Given the description of an element on the screen output the (x, y) to click on. 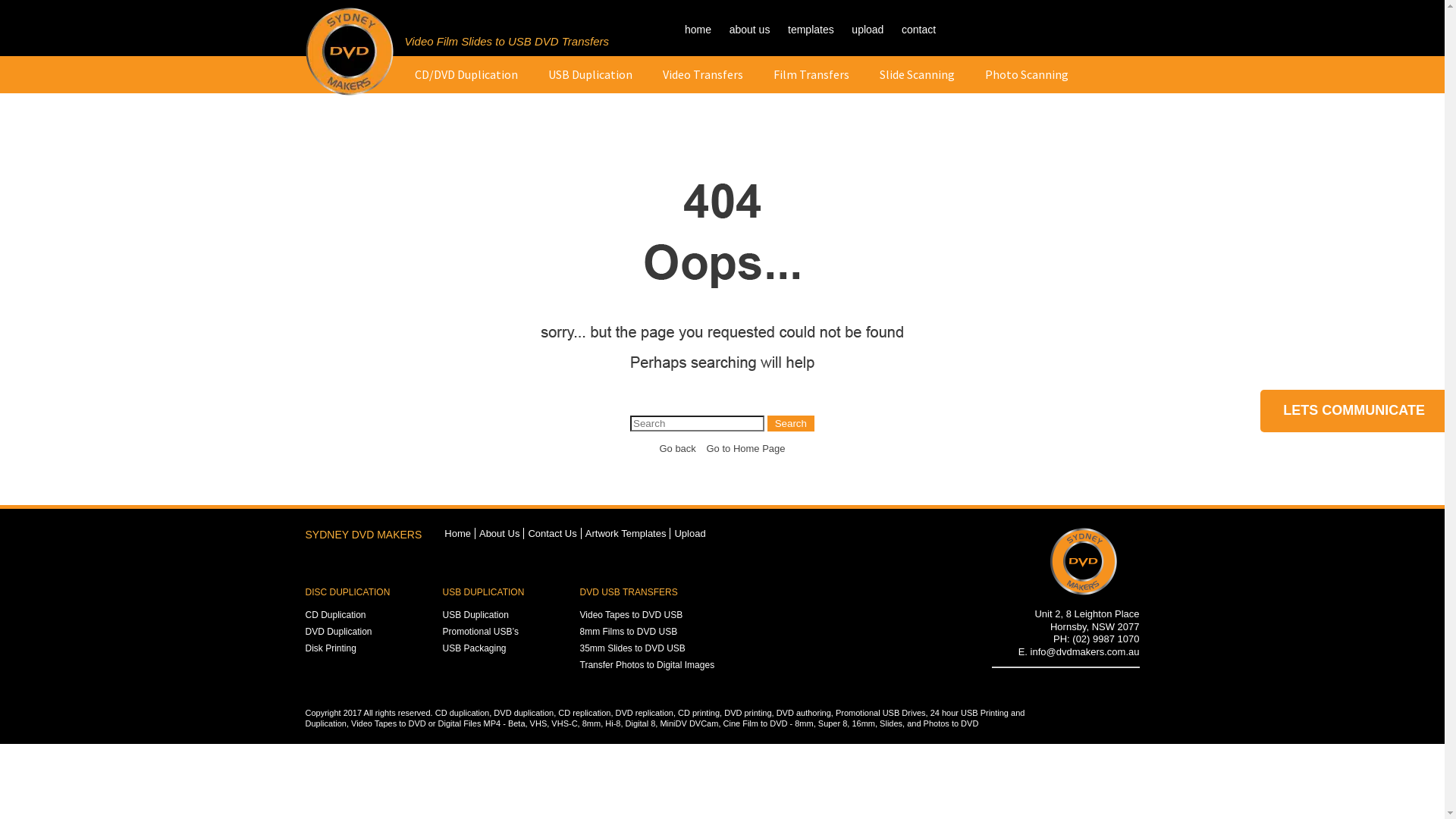
Search Element type: text (790, 423)
templates Element type: text (810, 29)
Film Transfers Element type: text (811, 73)
USB Duplication Element type: text (589, 73)
Sydney DVD Makers Element type: hover (348, 88)
35mm Slides to DVD USB Element type: text (631, 648)
home Element type: text (697, 29)
Go to Home Page Element type: text (745, 449)
USB Duplication Element type: text (475, 614)
CD/DVD Duplication Element type: text (465, 73)
contact Element type: text (918, 29)
Home Element type: text (457, 533)
about us Element type: text (749, 29)
Footer Logo Element type: hover (1083, 593)
Artwork Templates Element type: text (625, 533)
Contact Us Element type: text (551, 533)
Slide Scanning Element type: text (916, 73)
DVD Duplication Element type: text (337, 631)
Video Transfers Element type: text (702, 73)
Disk Printing Element type: text (329, 648)
upload Element type: text (867, 29)
Upload Element type: text (689, 533)
Go back Element type: text (677, 449)
CD Duplication Element type: text (334, 614)
8mm Films to DVD USB Element type: text (628, 631)
USB Packaging Element type: text (474, 648)
Video Tapes to DVD USB Element type: text (630, 614)
Transfer Photos to Digital Images Element type: text (646, 664)
Photo Scanning Element type: text (1025, 73)
About Us Element type: text (499, 533)
